Given the description of an element on the screen output the (x, y) to click on. 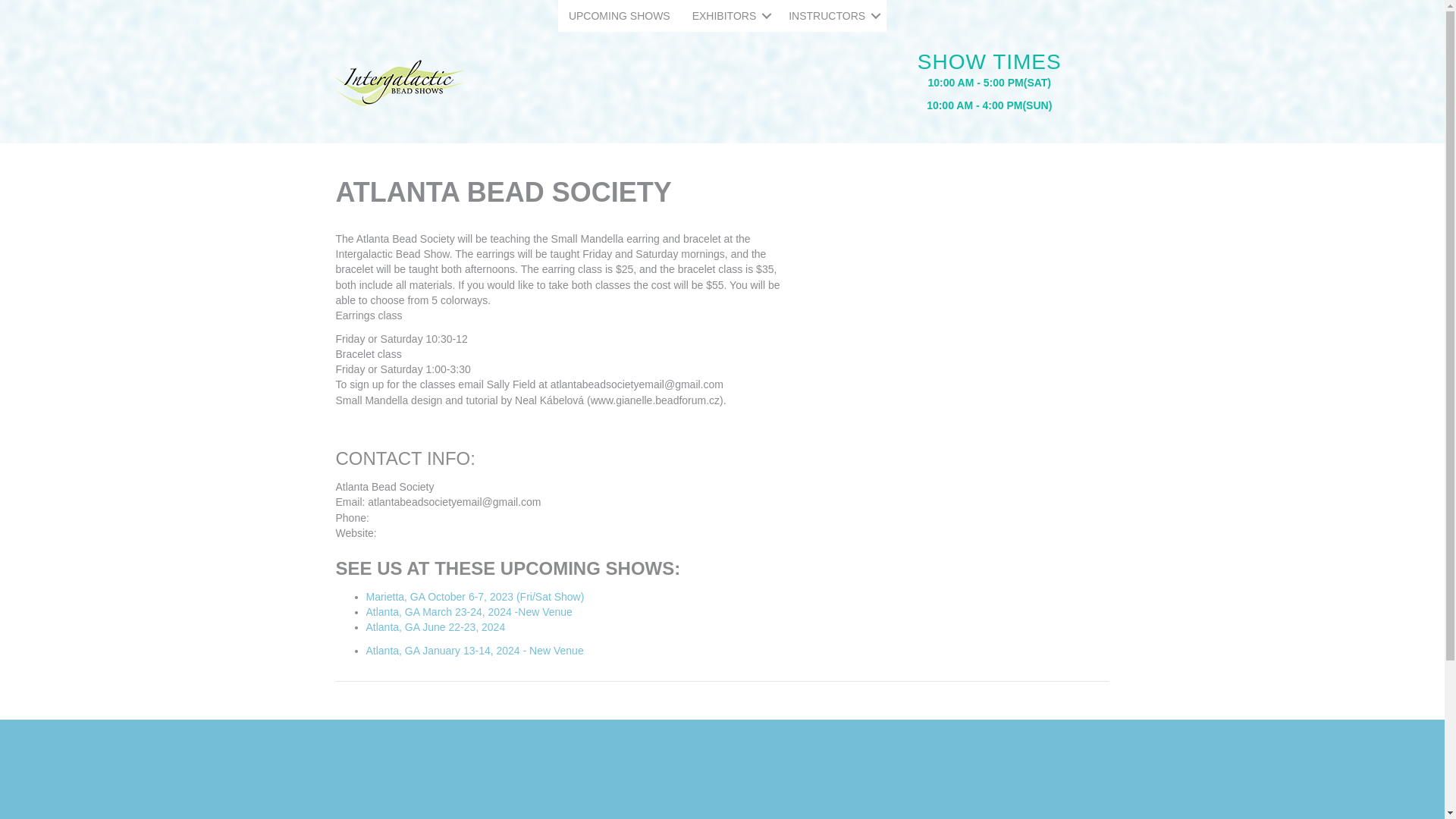
EXHIBITORS (729, 15)
Atlanta, GA January 13-14, 2024 - New Venue (474, 650)
UPCOMING SHOWS (619, 15)
Atlanta, GA June 22-23, 2024 (435, 626)
Atlanta, GA March 23-24, 2024 -New Venue (468, 612)
INSTRUCTORS (831, 15)
